Given the description of an element on the screen output the (x, y) to click on. 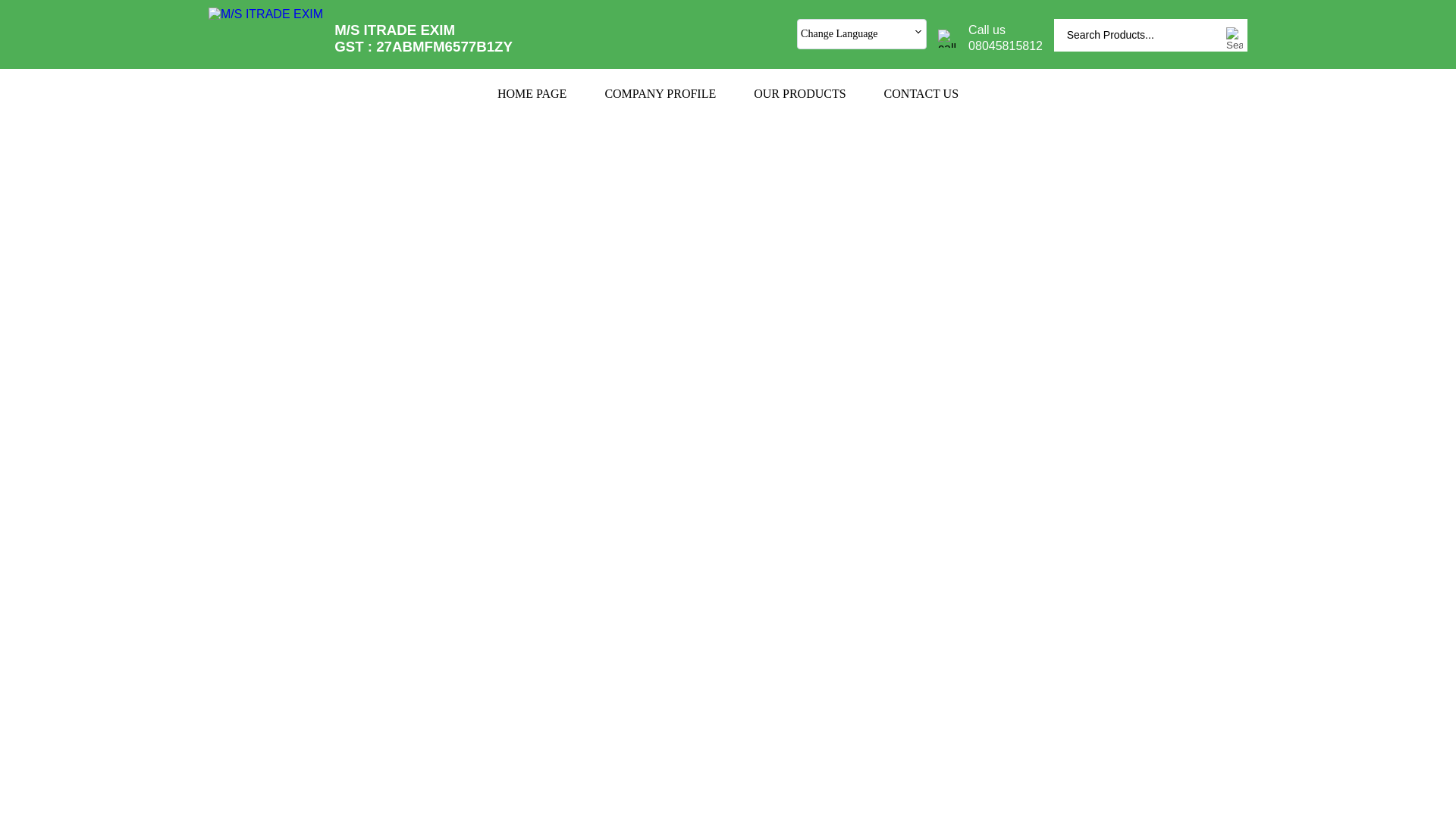
Search Products... (1139, 34)
HOME PAGE (532, 93)
OUR PRODUCTS (799, 93)
Search Products... (1139, 34)
COMPANY PROFILE (660, 93)
